Given the description of an element on the screen output the (x, y) to click on. 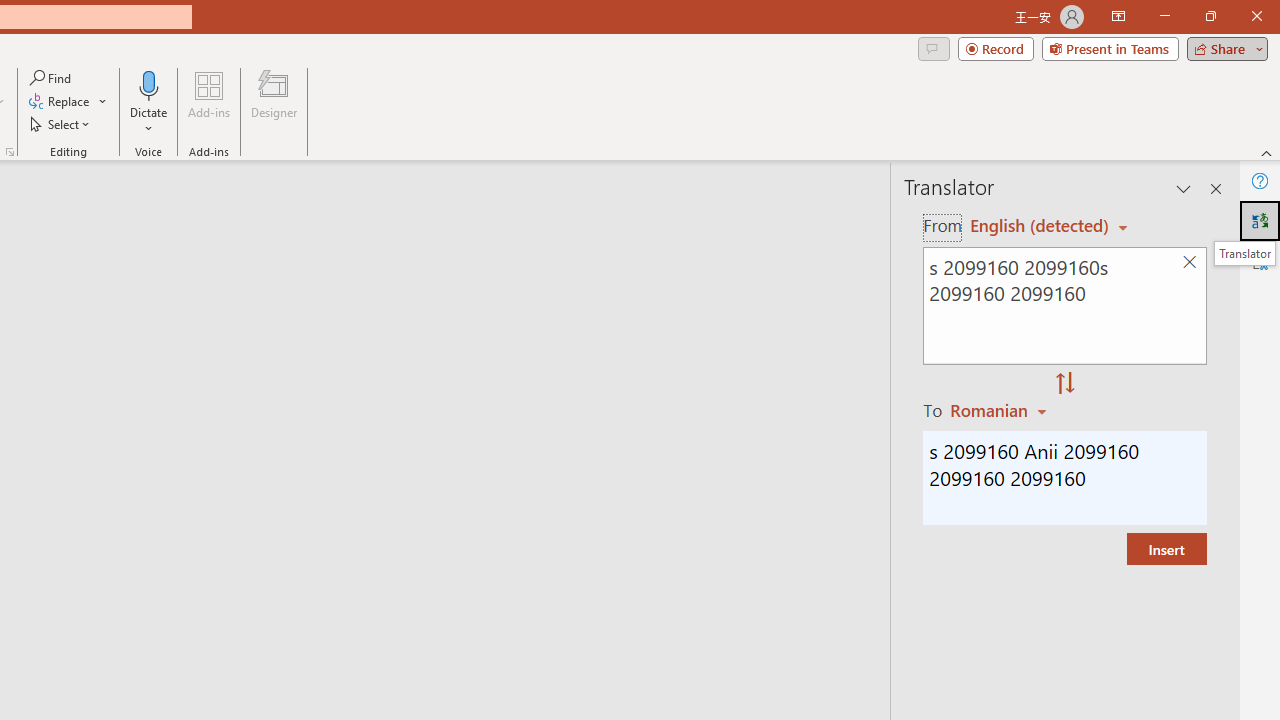
Romanian (1001, 409)
